Given the description of an element on the screen output the (x, y) to click on. 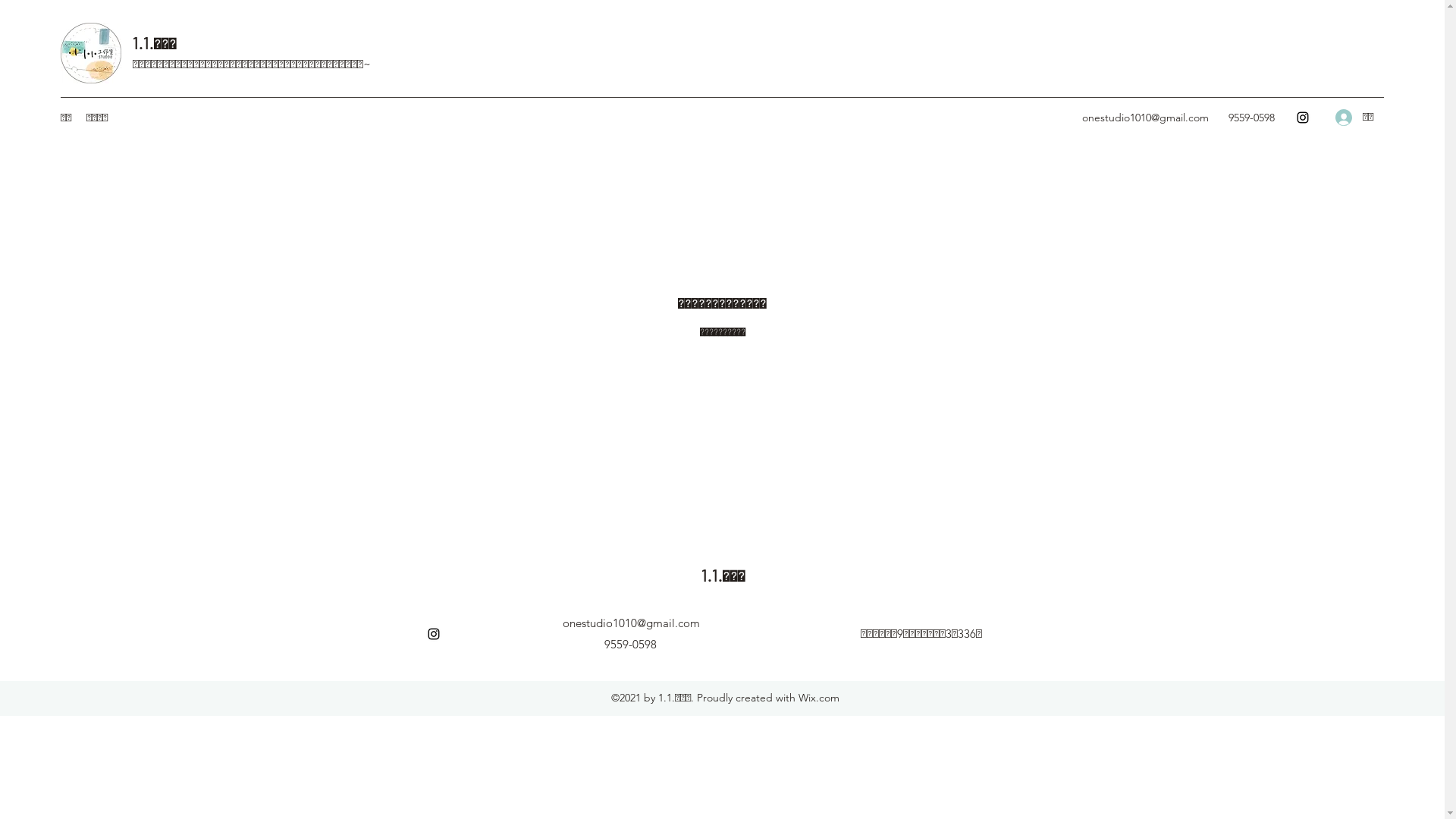
onestudio1010@gmail.com Element type: text (630, 622)
onestudio1010@gmail.com Element type: text (1145, 117)
